Given the description of an element on the screen output the (x, y) to click on. 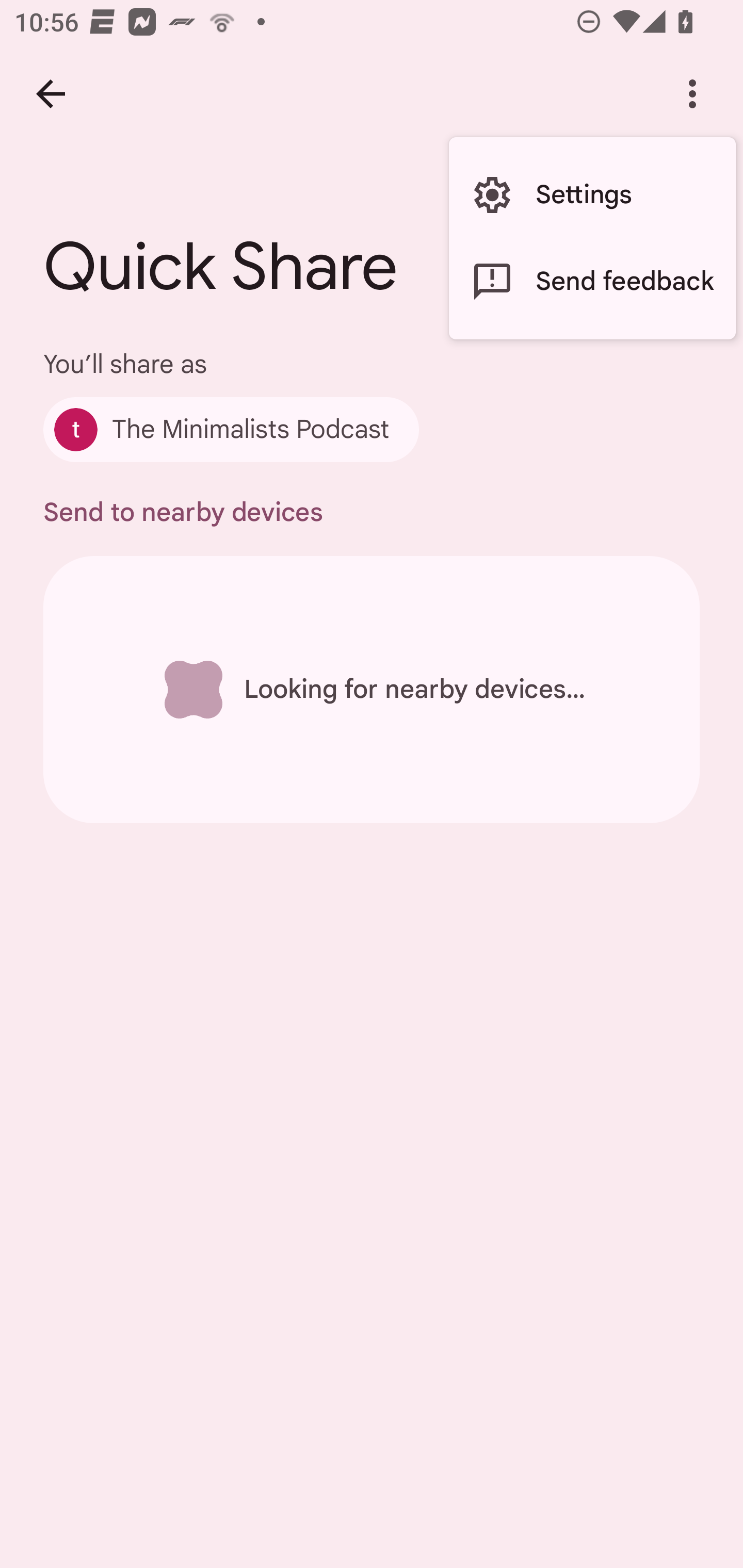
Settings (591, 195)
Send feedback (591, 281)
